Given the description of an element on the screen output the (x, y) to click on. 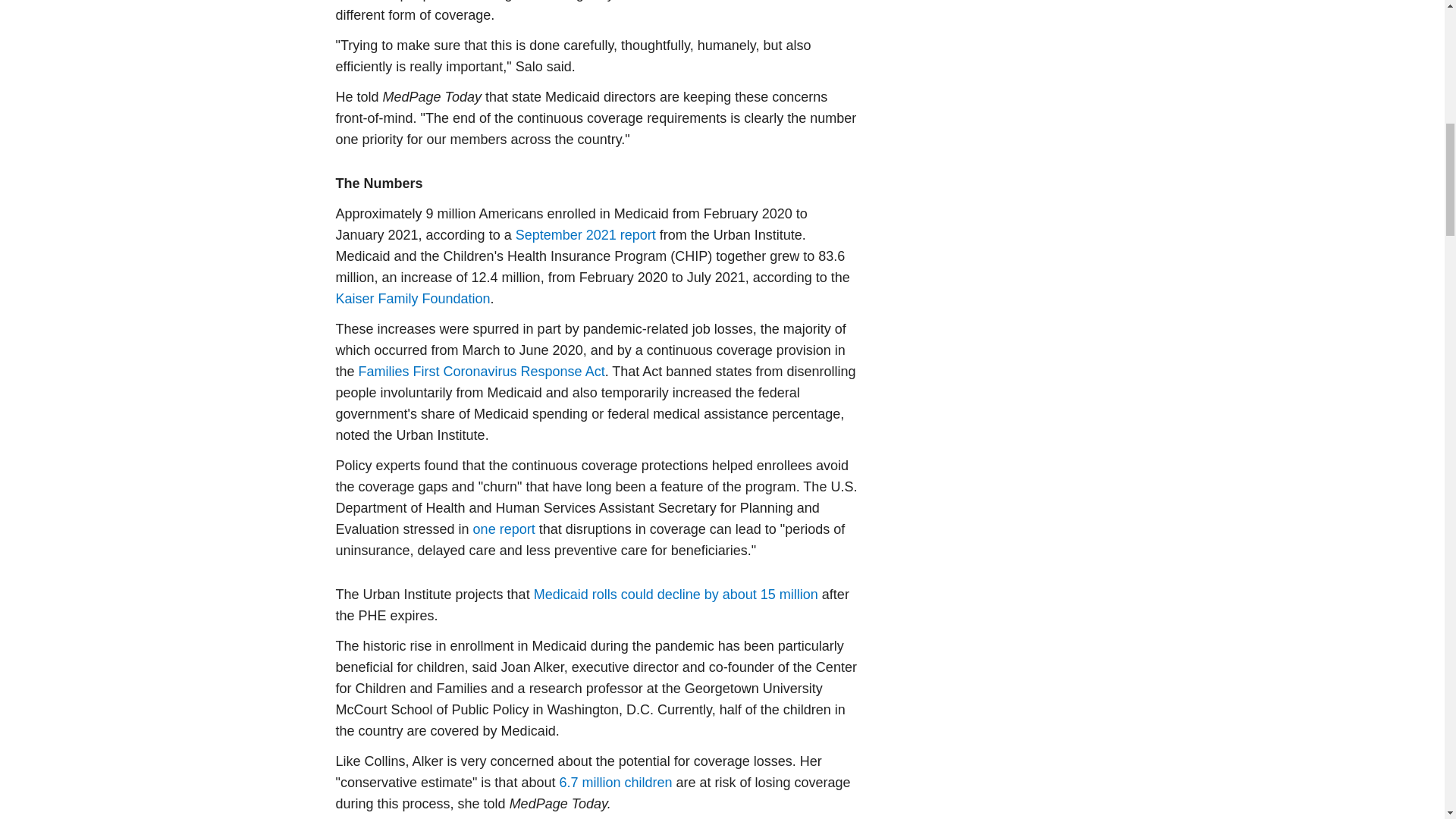
Opens in a new tab or window (504, 529)
Opens in a new tab or window (615, 782)
Opens in a new tab or window (585, 234)
Opens in a new tab or window (411, 298)
Opens in a new tab or window (676, 594)
Opens in a new tab or window (481, 371)
